Given the description of an element on the screen output the (x, y) to click on. 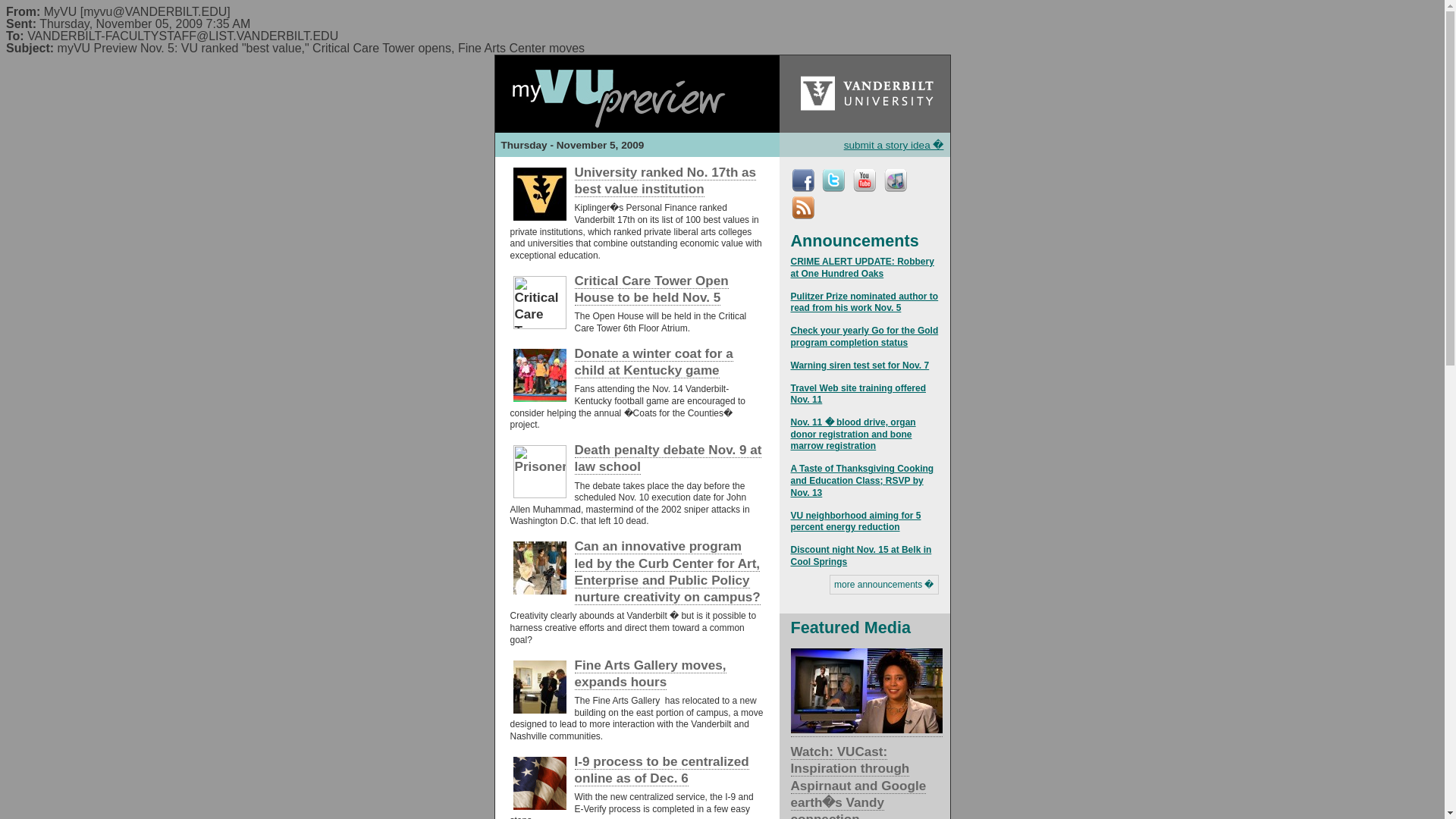
Mella (539, 686)
Travel Web site training offered Nov. 11 (858, 394)
Prisoner (539, 471)
Death penalty debate Nov. 9 at law school (668, 459)
Fine Arts Gallery moves, expands hours (650, 674)
Curb (539, 567)
Pulitzer Prize nominated author to read from his work Nov. 5 (863, 302)
USflag (539, 783)
VUlogocolor (539, 193)
